Given the description of an element on the screen output the (x, y) to click on. 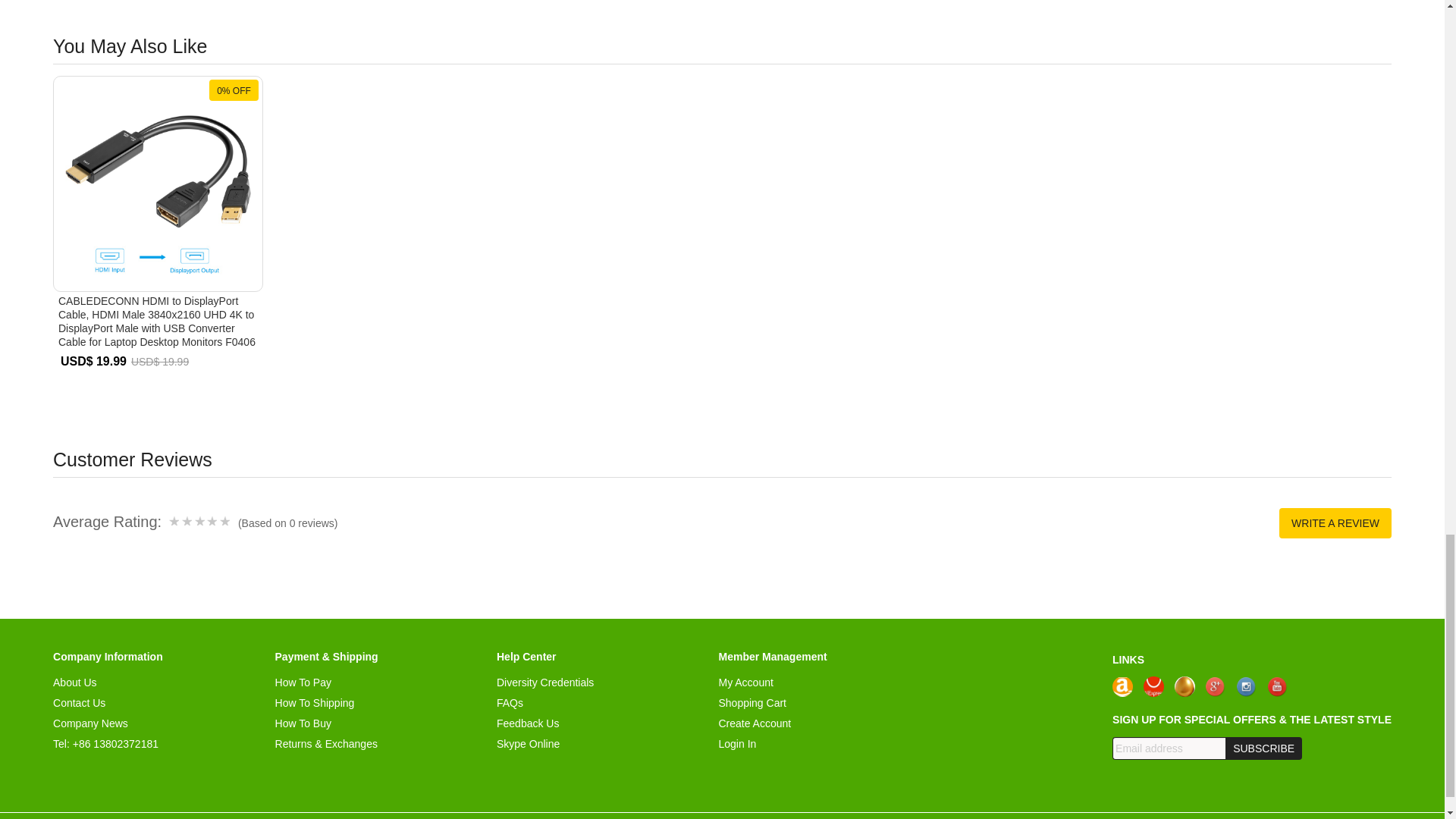
Subscribe (1263, 748)
